Given the description of an element on the screen output the (x, y) to click on. 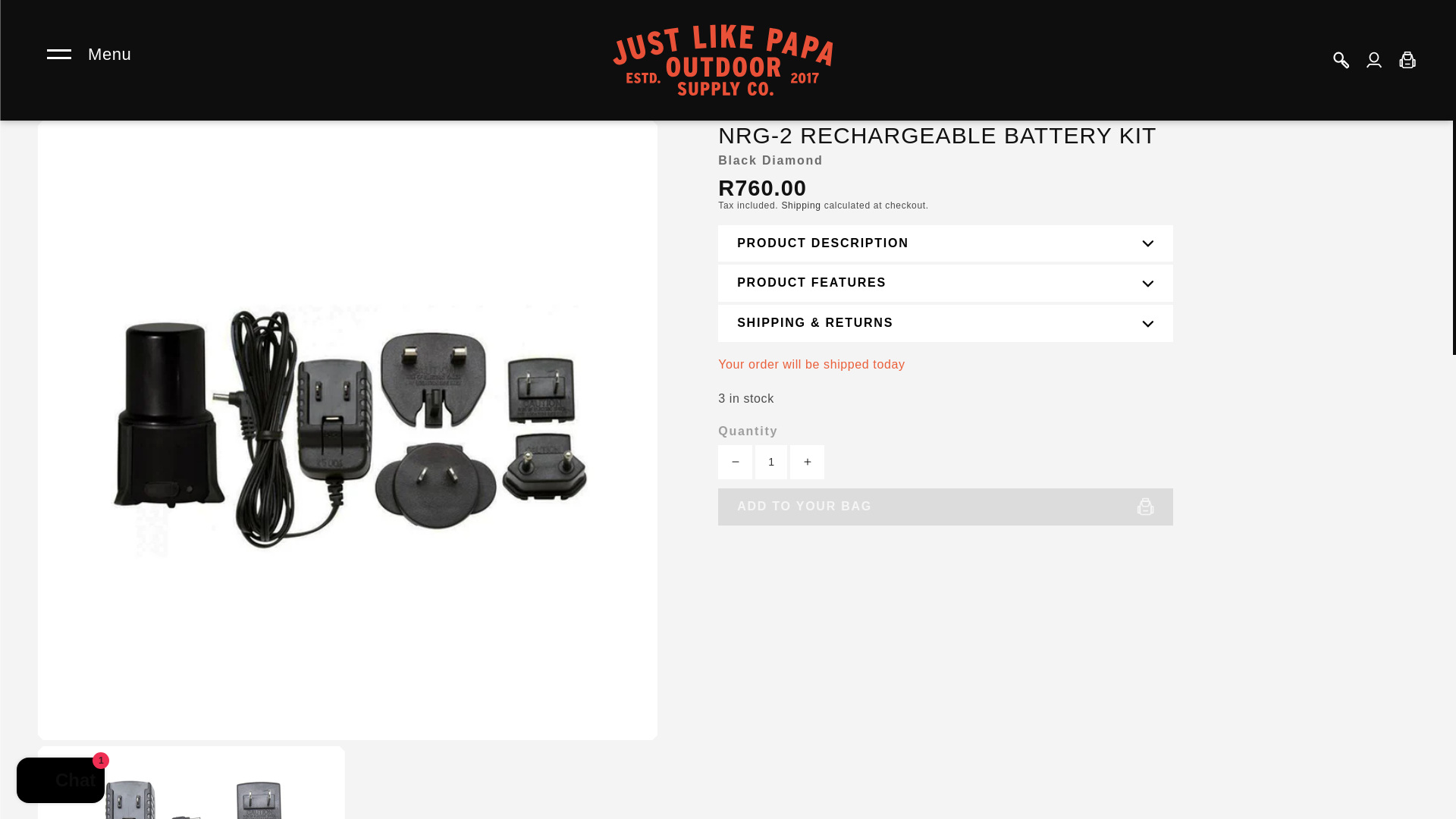
Shopify online store chat (60, 781)
1 (771, 462)
Log in (1373, 59)
Cart (1406, 59)
Skip to content (45, 17)
